Given the description of an element on the screen output the (x, y) to click on. 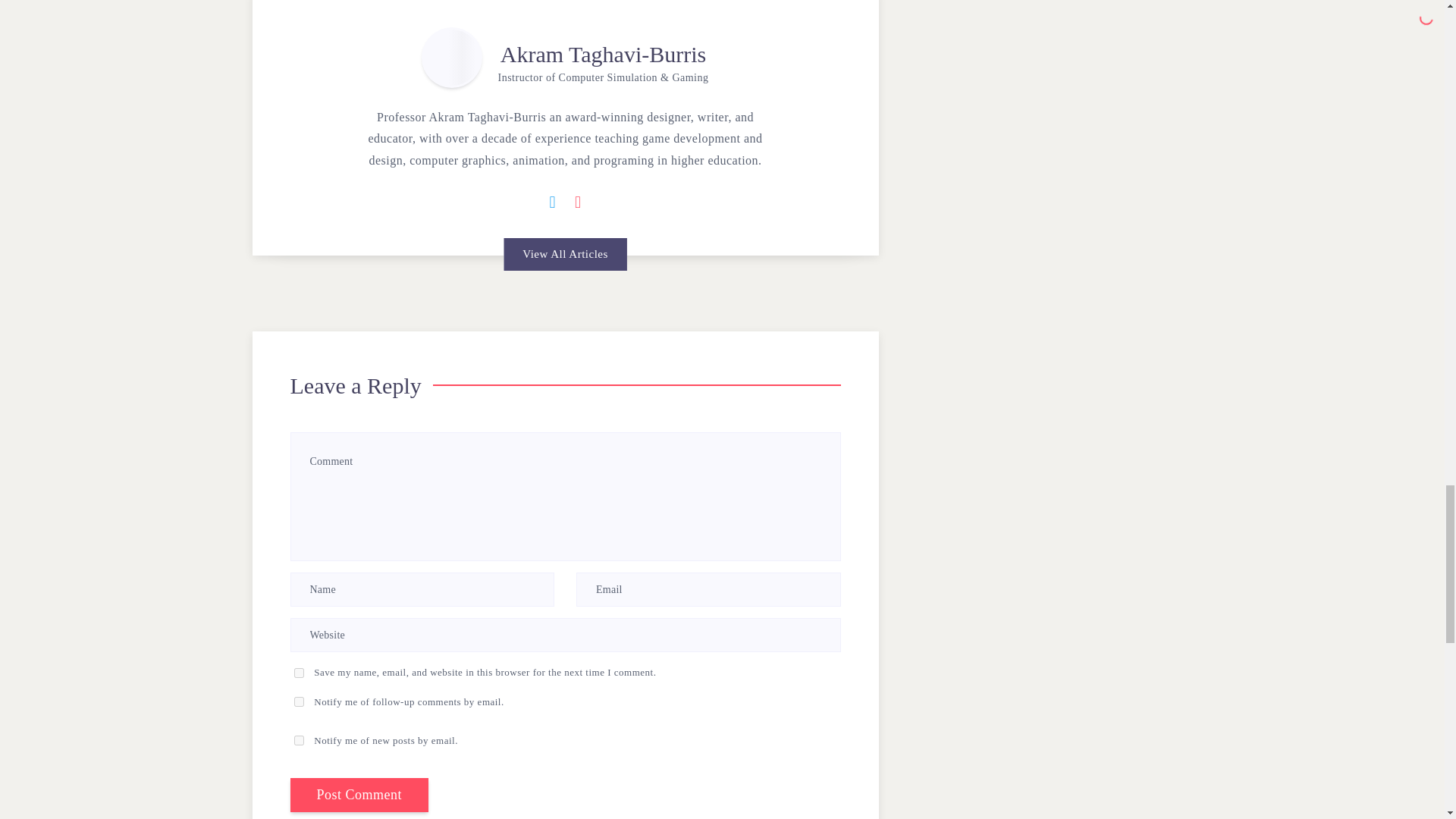
Post Comment (358, 795)
subscribe (299, 701)
subscribe (299, 740)
yes (299, 673)
Author: Akram Taghavi-Burris (451, 57)
